Given the description of an element on the screen output the (x, y) to click on. 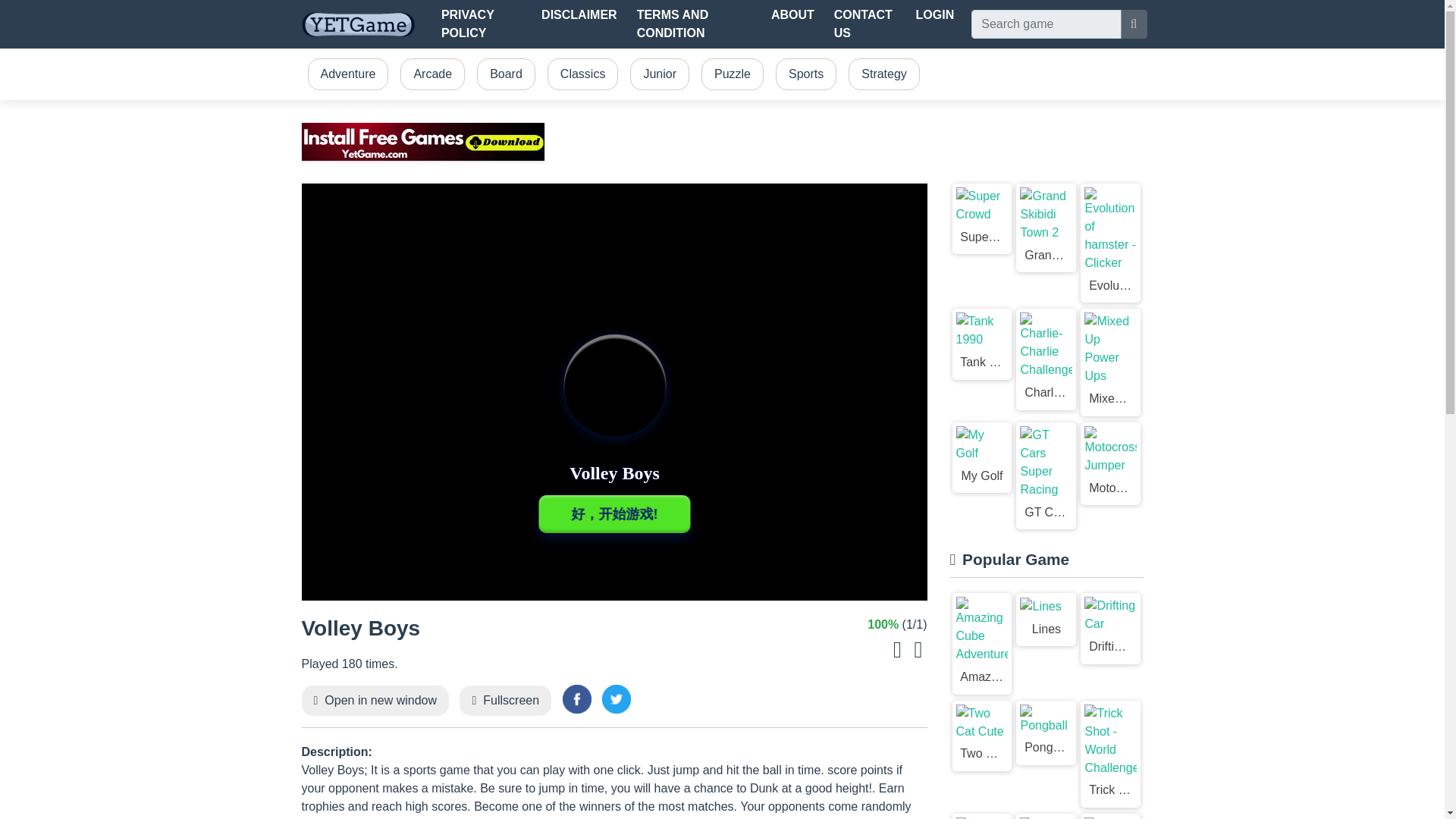
PRIVACY POLICY (481, 24)
ABOUT (793, 15)
CONTACT US (865, 24)
Open in new window (380, 699)
LOGIN (935, 15)
Classics (582, 74)
Board (505, 74)
Fullscreen (510, 699)
DISCLAIMER (579, 15)
Puzzle (732, 74)
